Given the description of an element on the screen output the (x, y) to click on. 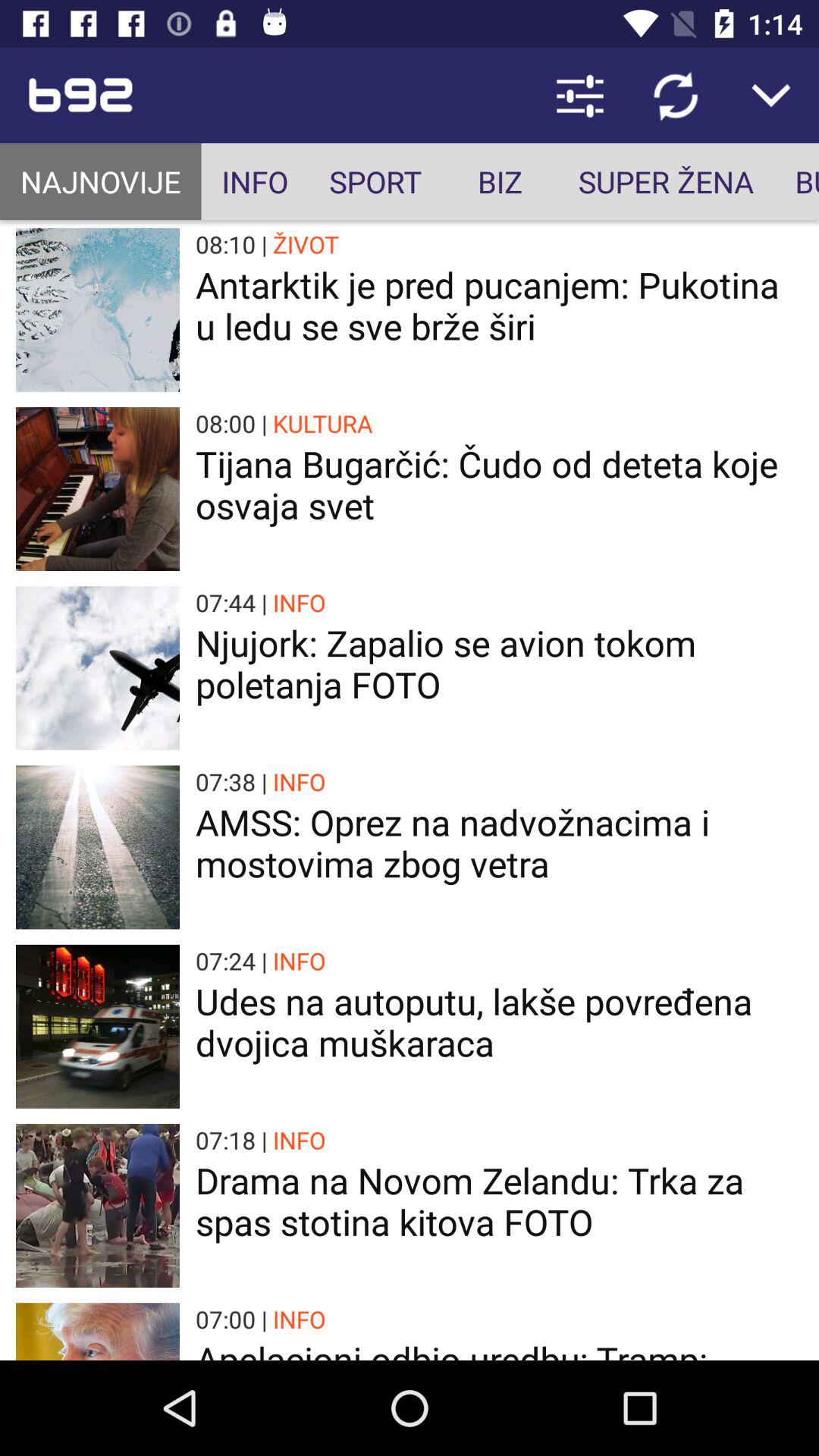
launch item above   biz (579, 95)
